Given the description of an element on the screen output the (x, y) to click on. 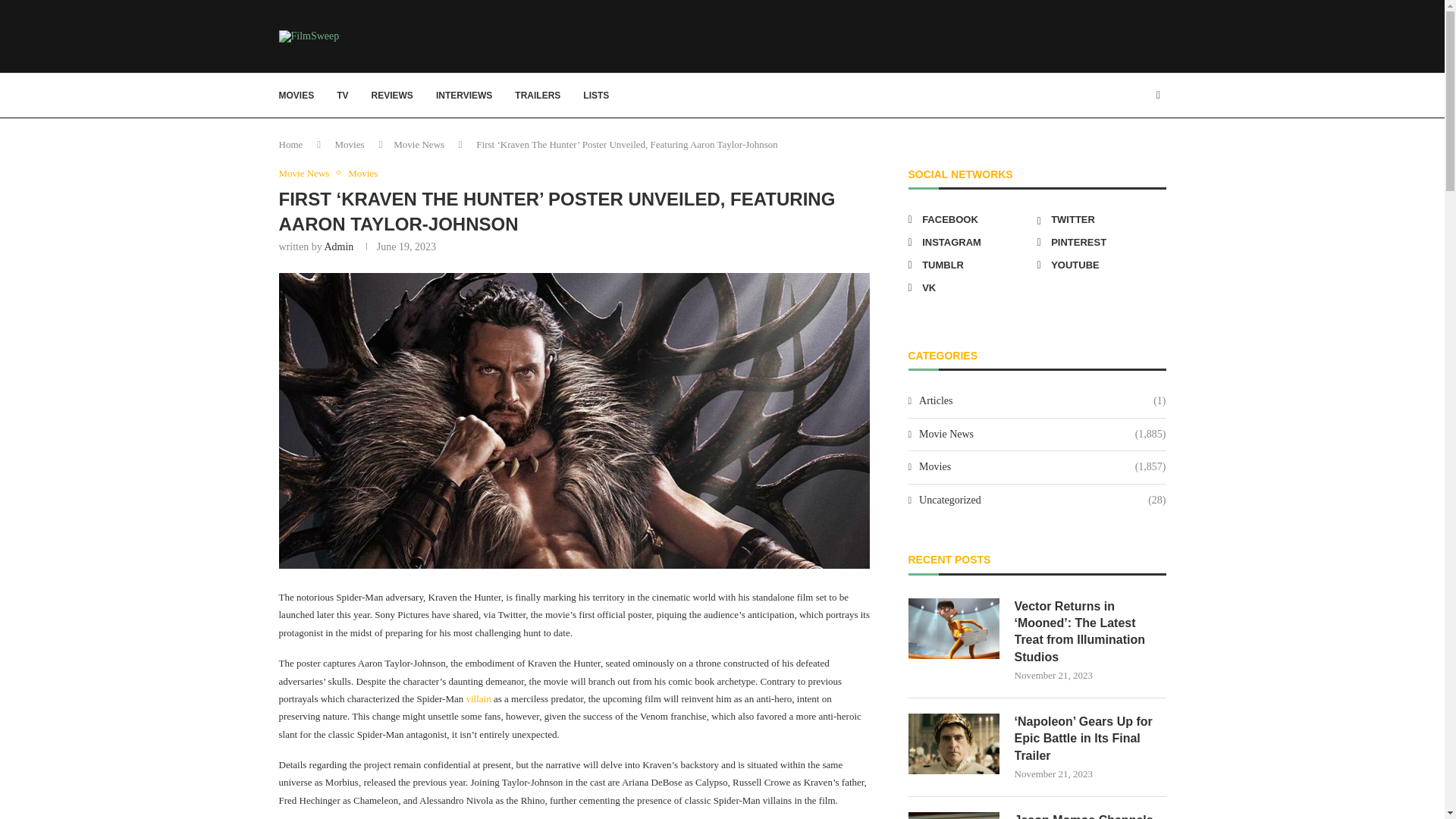
Movie News (418, 143)
Admin (338, 246)
Movies (349, 143)
Movie News (308, 173)
villain (477, 698)
Home (290, 143)
REVIEWS (392, 95)
INTERVIEWS (463, 95)
Movies (362, 173)
